Given the description of an element on the screen output the (x, y) to click on. 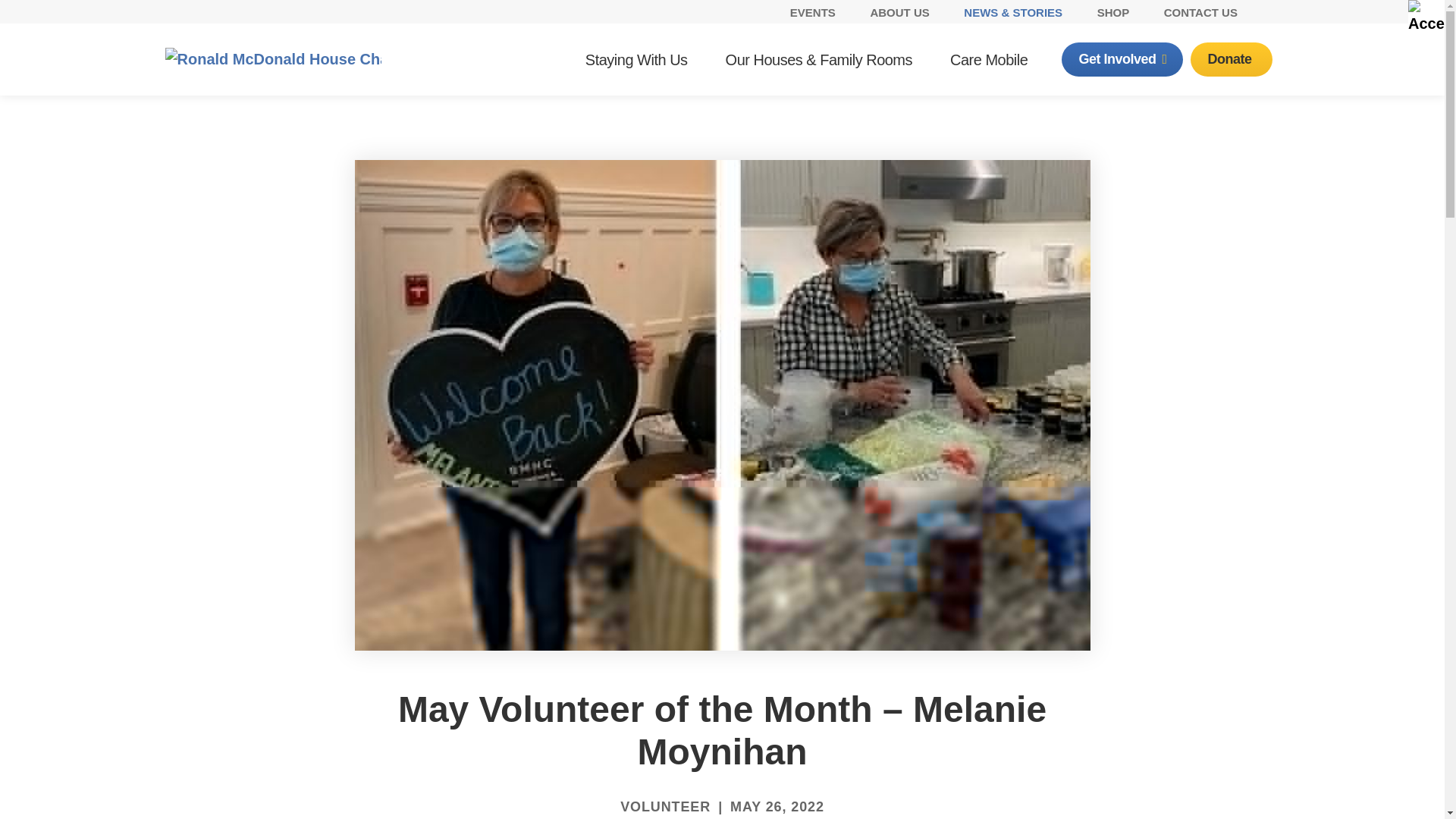
ABOUT US (898, 12)
Care Mobile (988, 60)
EVENTS (812, 12)
Donate (1231, 59)
Staying With Us (635, 60)
SHOP (1113, 12)
Events Archive (812, 12)
Get Involved (1121, 59)
Search Site (1272, 12)
CONTACT US (1200, 12)
Search Site (1272, 12)
